Given the description of an element on the screen output the (x, y) to click on. 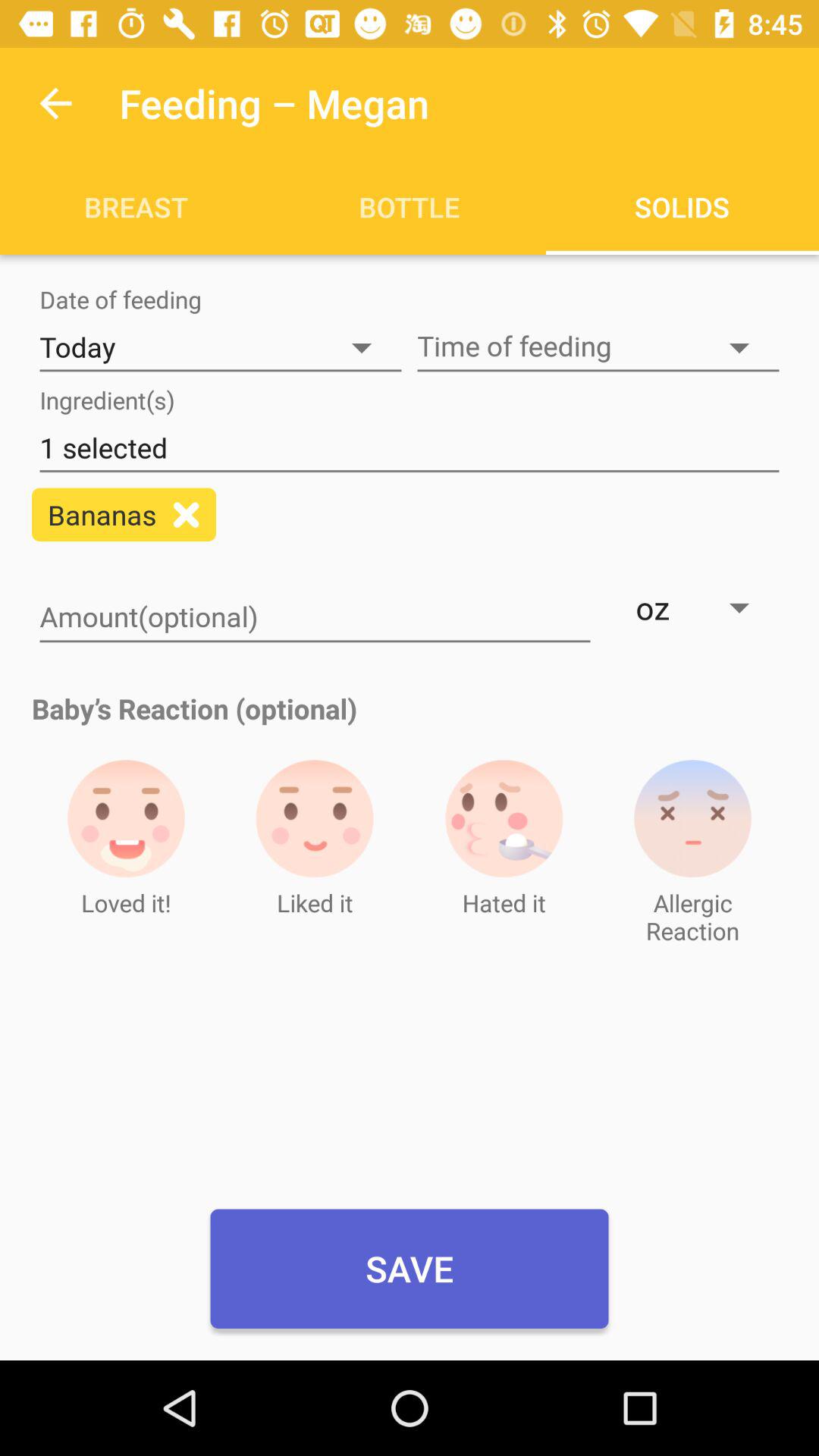
select feeding time (598, 347)
